Given the description of an element on the screen output the (x, y) to click on. 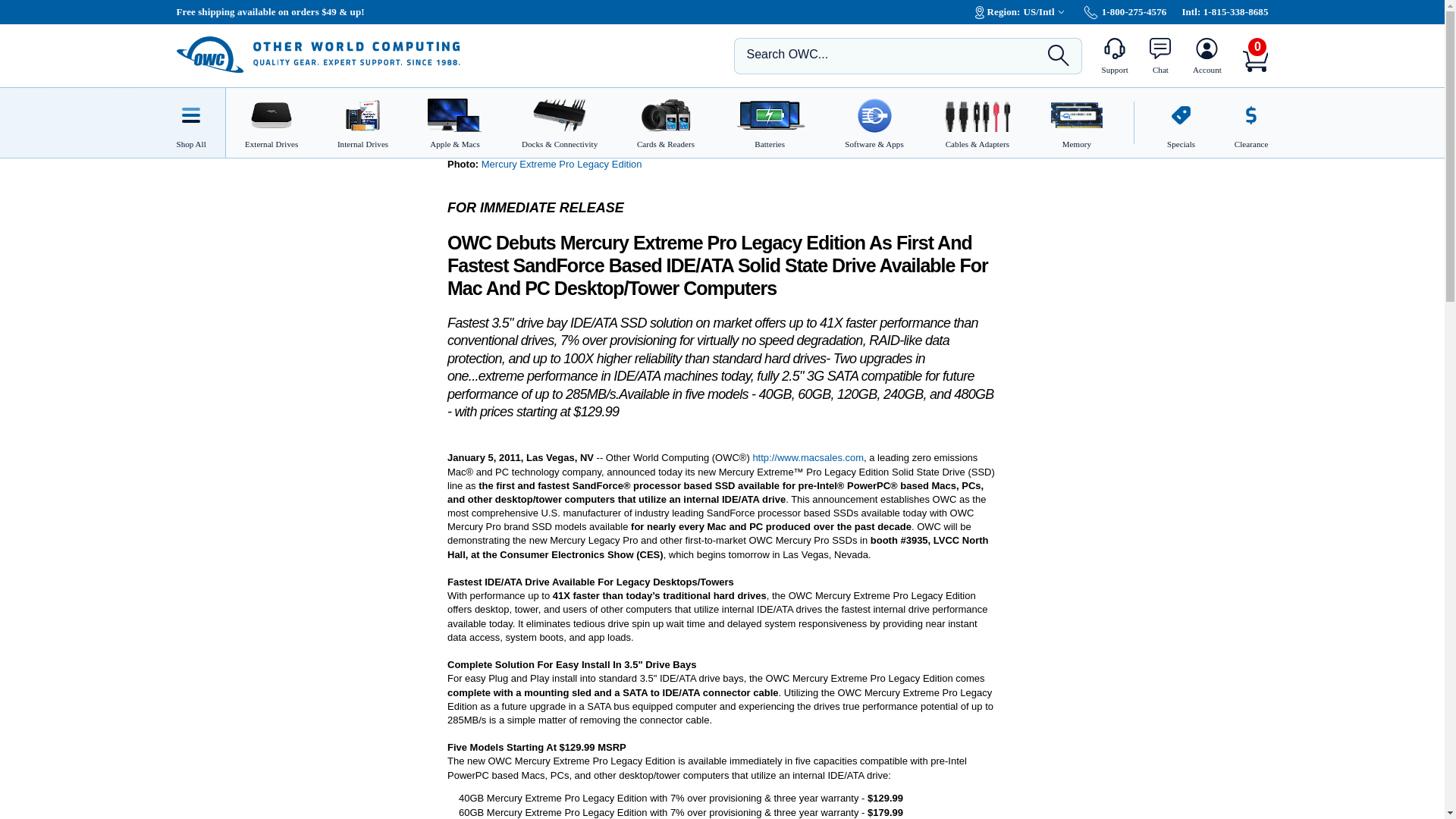
0 (1255, 61)
Search (1059, 55)
1-800-275-4576 (1125, 11)
Intl: 1-815-338-8685 (1224, 11)
